Given the description of an element on the screen output the (x, y) to click on. 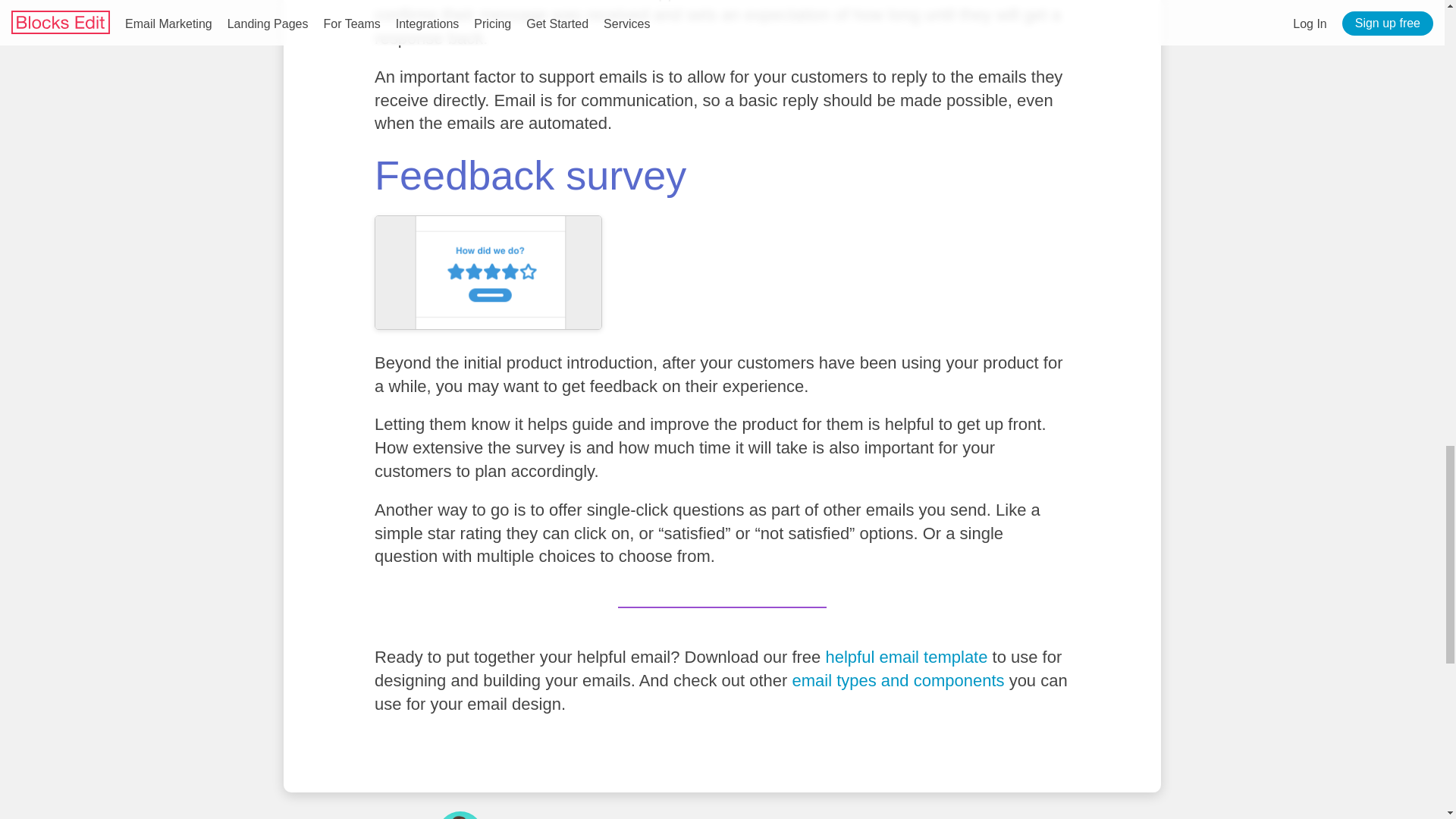
helpful email template (906, 656)
Ovi Demetrian Jr (545, 817)
email types and components (898, 680)
